Given the description of an element on the screen output the (x, y) to click on. 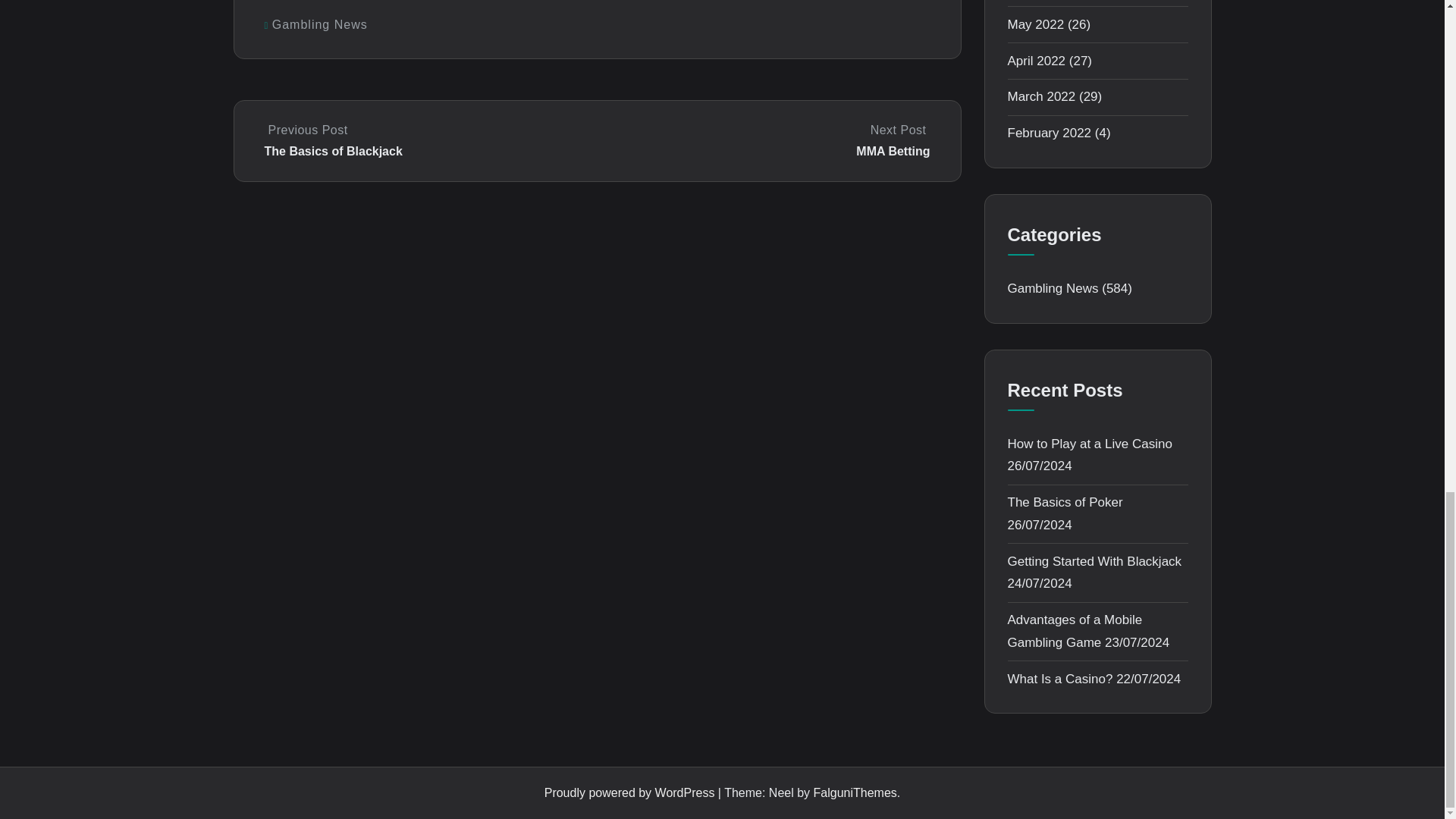
Gambling News (320, 24)
